Given the description of an element on the screen output the (x, y) to click on. 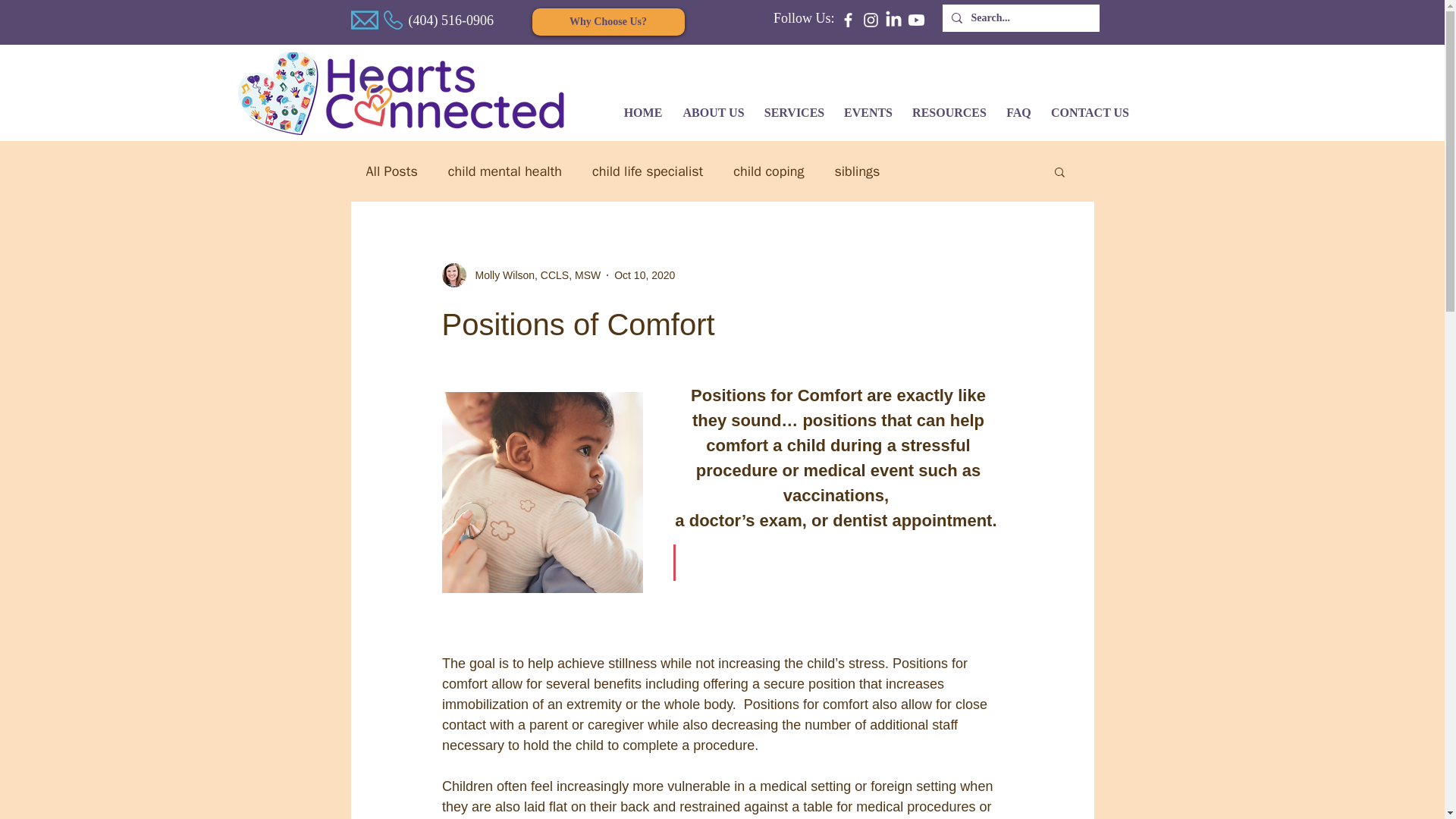
Oct 10, 2020 (644, 274)
All Posts (390, 171)
Why Choose Us? (608, 22)
EVENTS (868, 105)
child mental health (505, 171)
RESOURCES (948, 105)
child coping (768, 171)
child life specialist (647, 171)
CONTACT US (1090, 105)
HOME (643, 105)
siblings (856, 171)
SERVICES (794, 105)
Molly Wilson, CCLS, MSW (532, 274)
ABOUT US (712, 105)
